Given the description of an element on the screen output the (x, y) to click on. 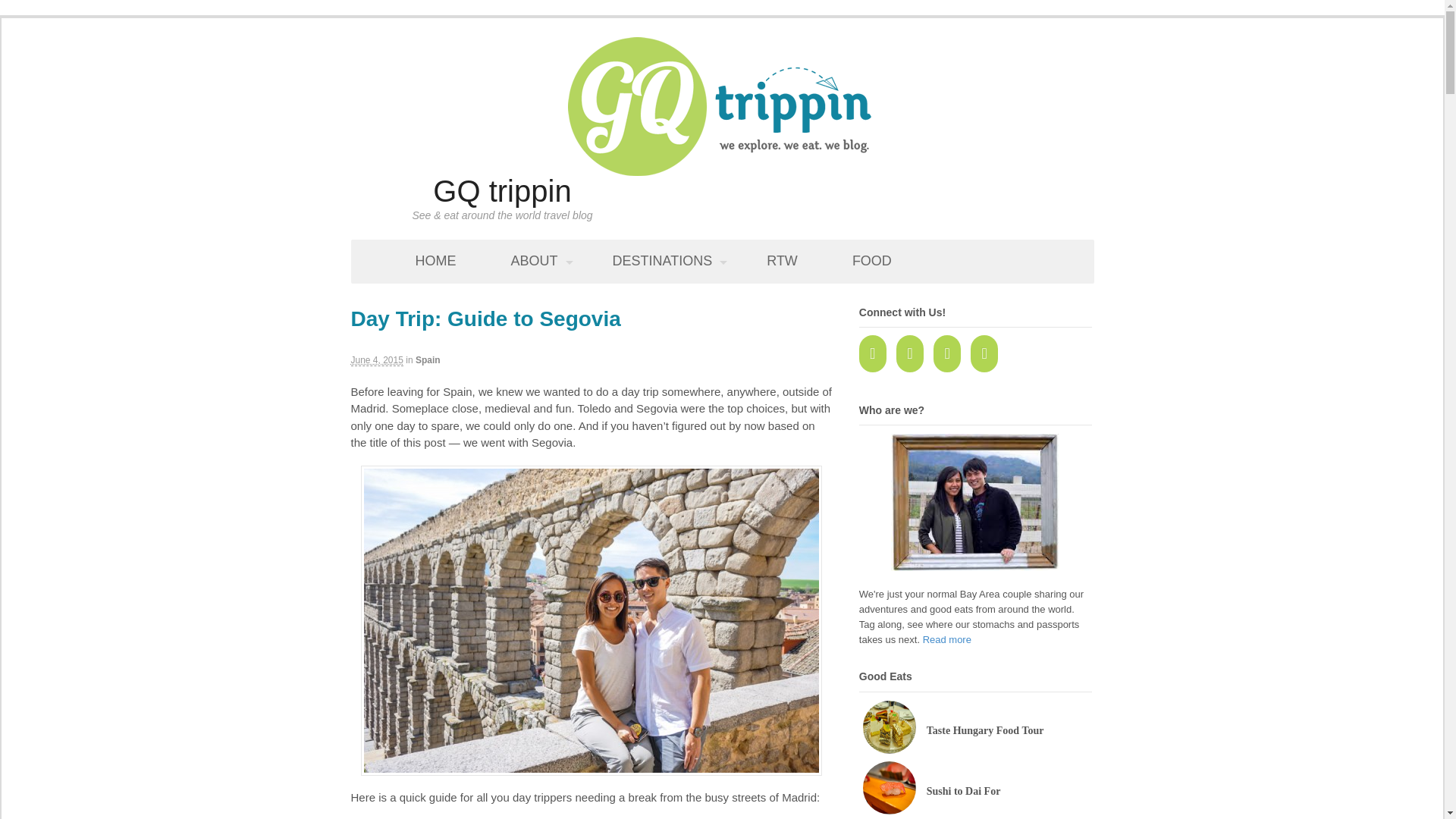
HOME (435, 261)
2015-06-04T05:00:55-0700 (376, 360)
DESTINATIONS (662, 261)
ABOUT (534, 261)
View all items in Spain (427, 359)
Twitter (913, 355)
Instagram (988, 355)
Facebook (876, 355)
GQ trippin (501, 191)
